Given the description of an element on the screen output the (x, y) to click on. 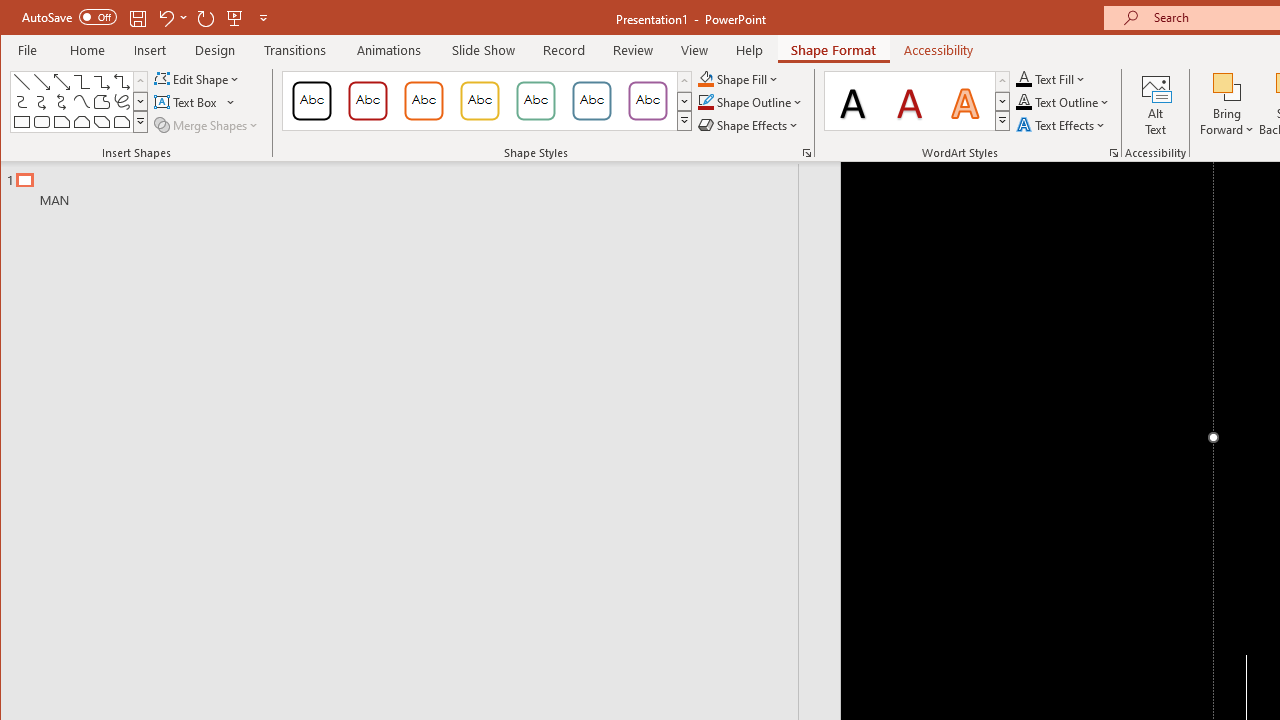
Fill: Dark Red, Accent color 1; Shadow (909, 100)
Colored Outline - Blue-Gray, Accent 5 (591, 100)
Fill: Black, Text color 1; Shadow (853, 100)
